Given the description of an element on the screen output the (x, y) to click on. 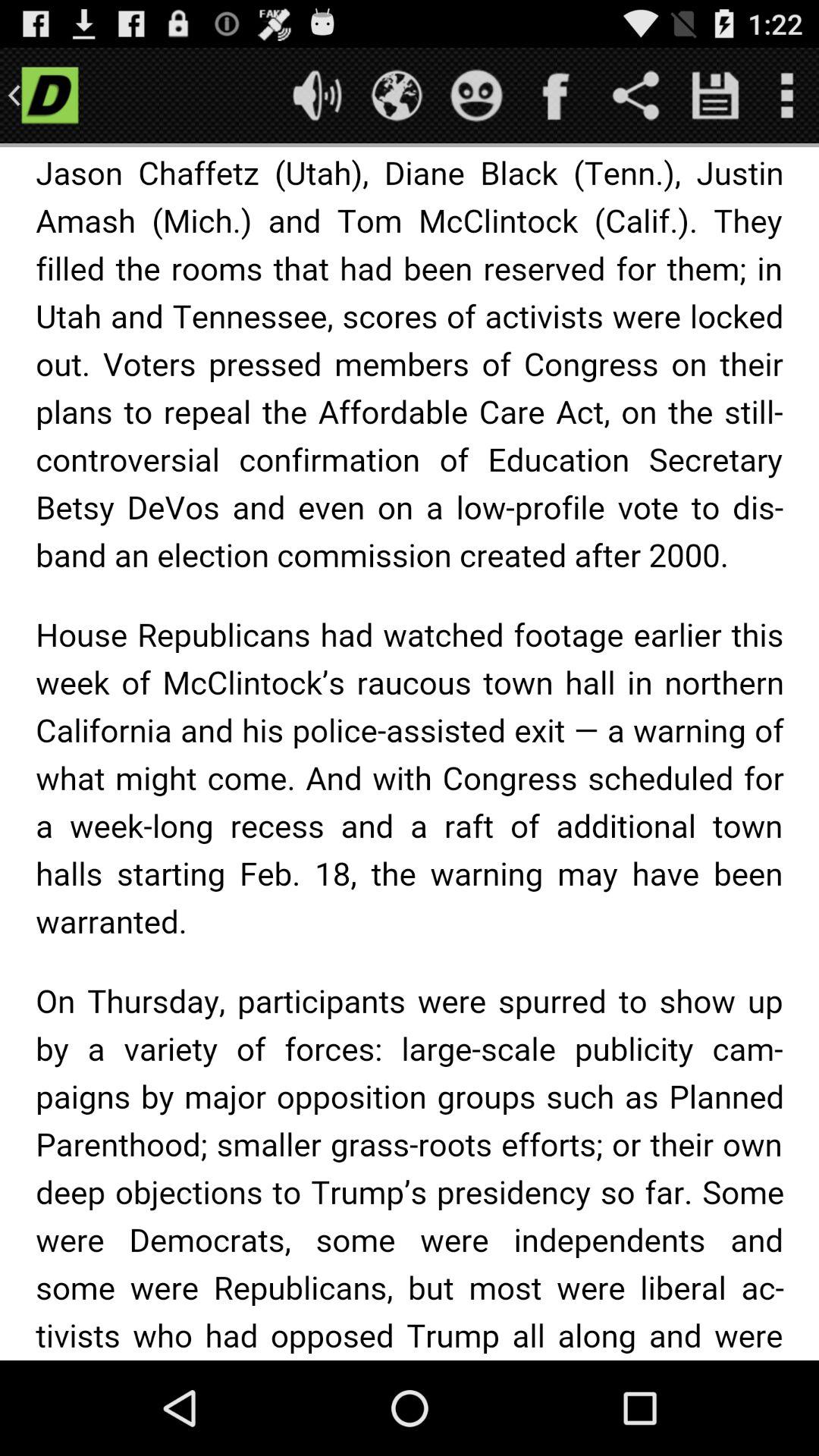
go to facebook link (556, 95)
